Given the description of an element on the screen output the (x, y) to click on. 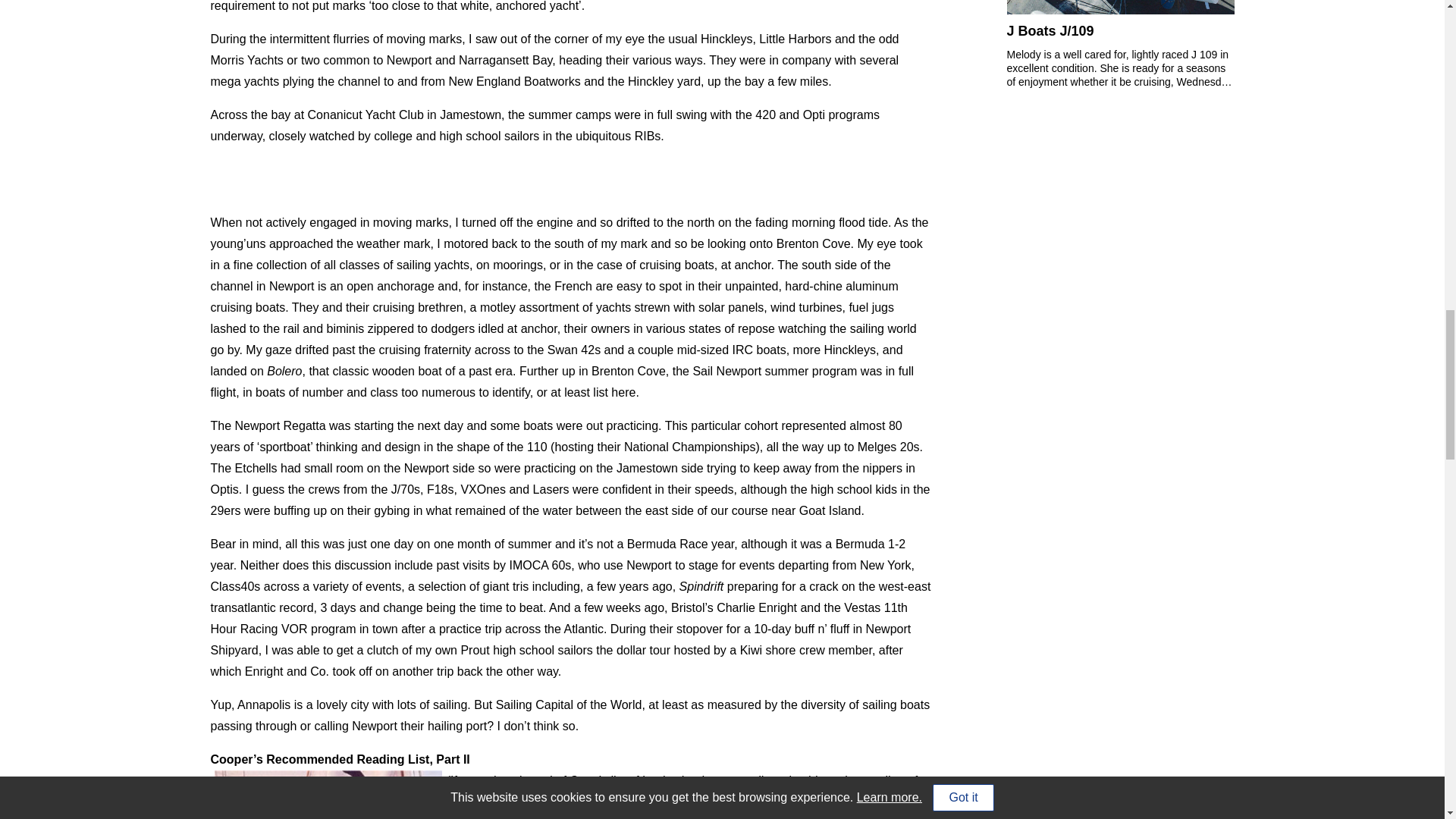
windcheckmagazine.com (842, 802)
